Given the description of an element on the screen output the (x, y) to click on. 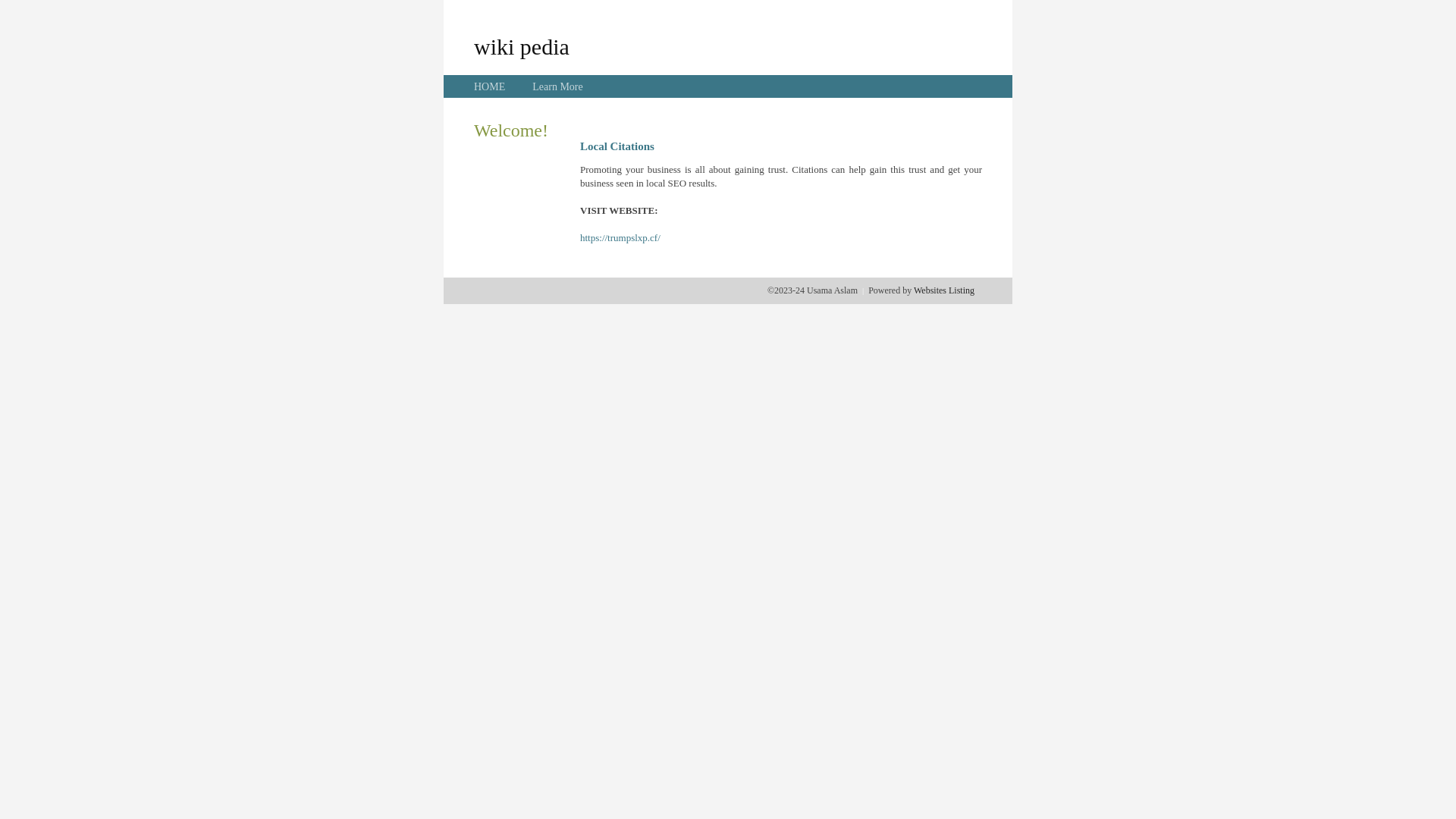
wiki pedia Element type: text (521, 46)
HOME Element type: text (489, 86)
Websites Listing Element type: text (943, 290)
https://trumpslxp.cf/ Element type: text (620, 237)
Learn More Element type: text (557, 86)
